Given the description of an element on the screen output the (x, y) to click on. 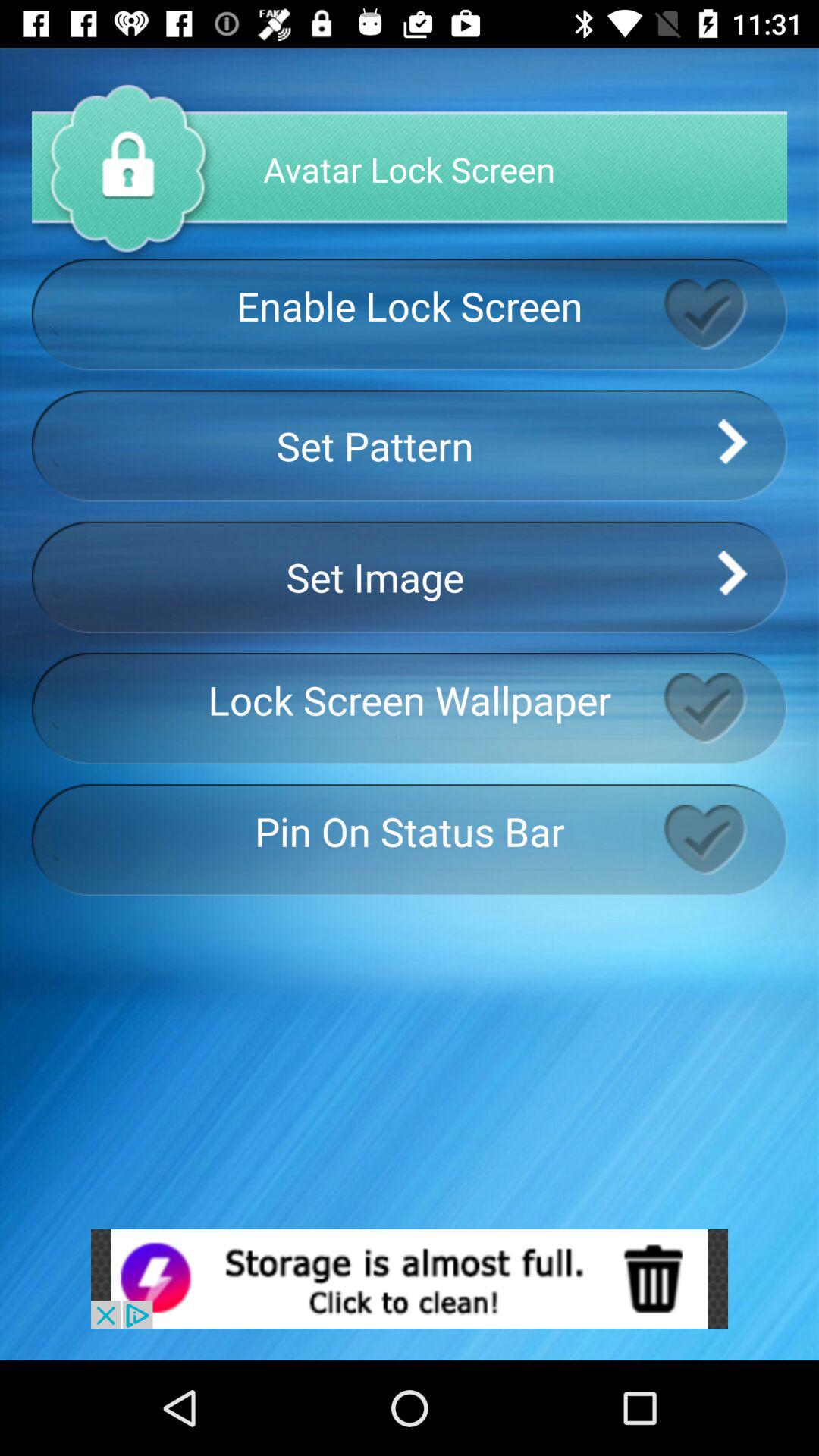
clean the storage (409, 1278)
